Given the description of an element on the screen output the (x, y) to click on. 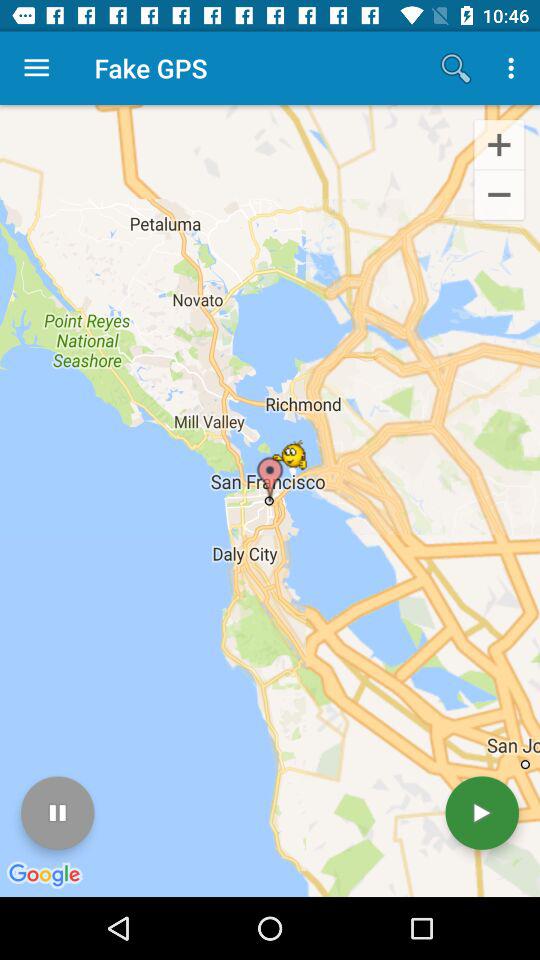
select item to the left of the fake gps item (36, 68)
